Given the description of an element on the screen output the (x, y) to click on. 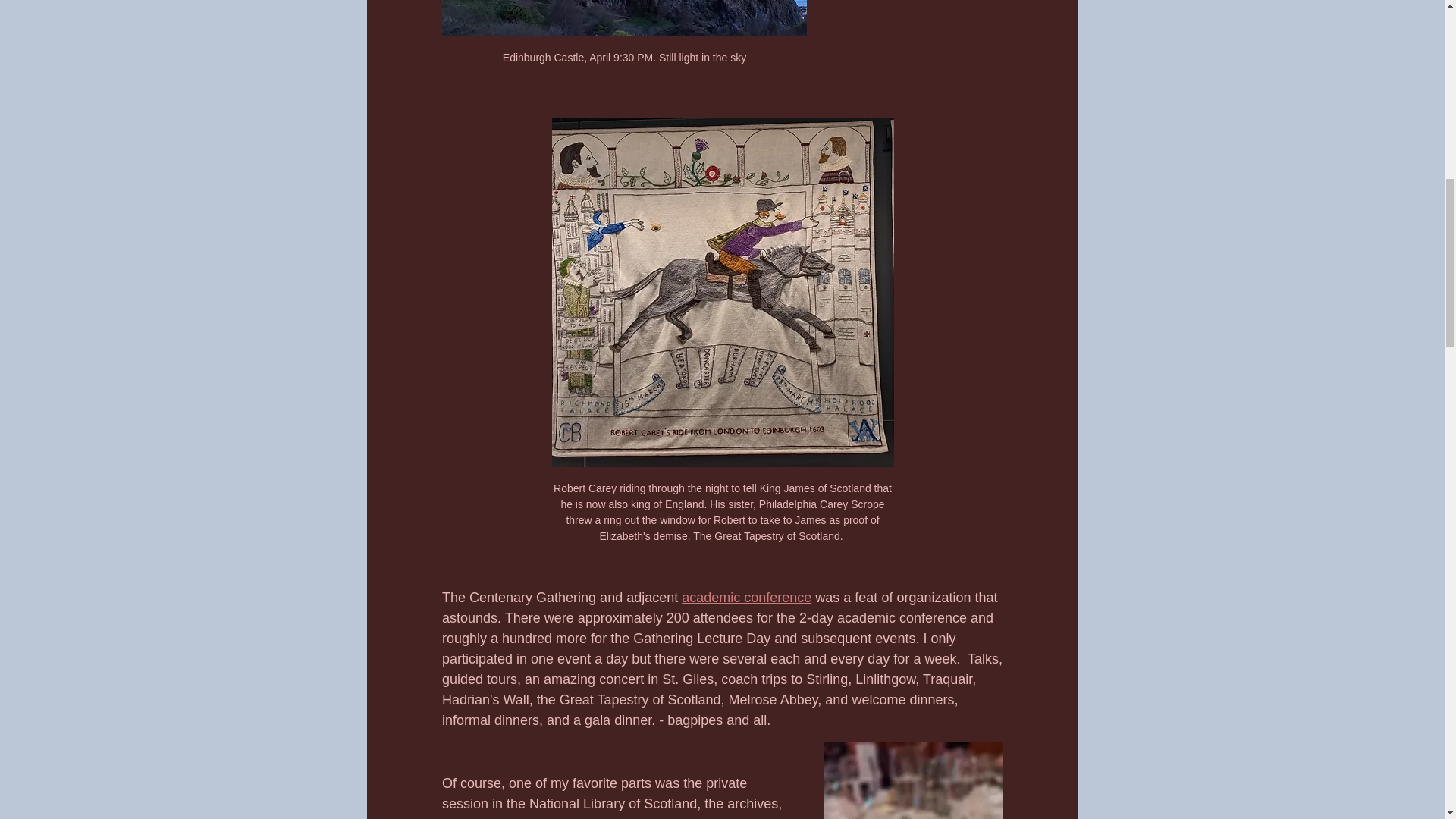
academic conference (745, 597)
